Given the description of an element on the screen output the (x, y) to click on. 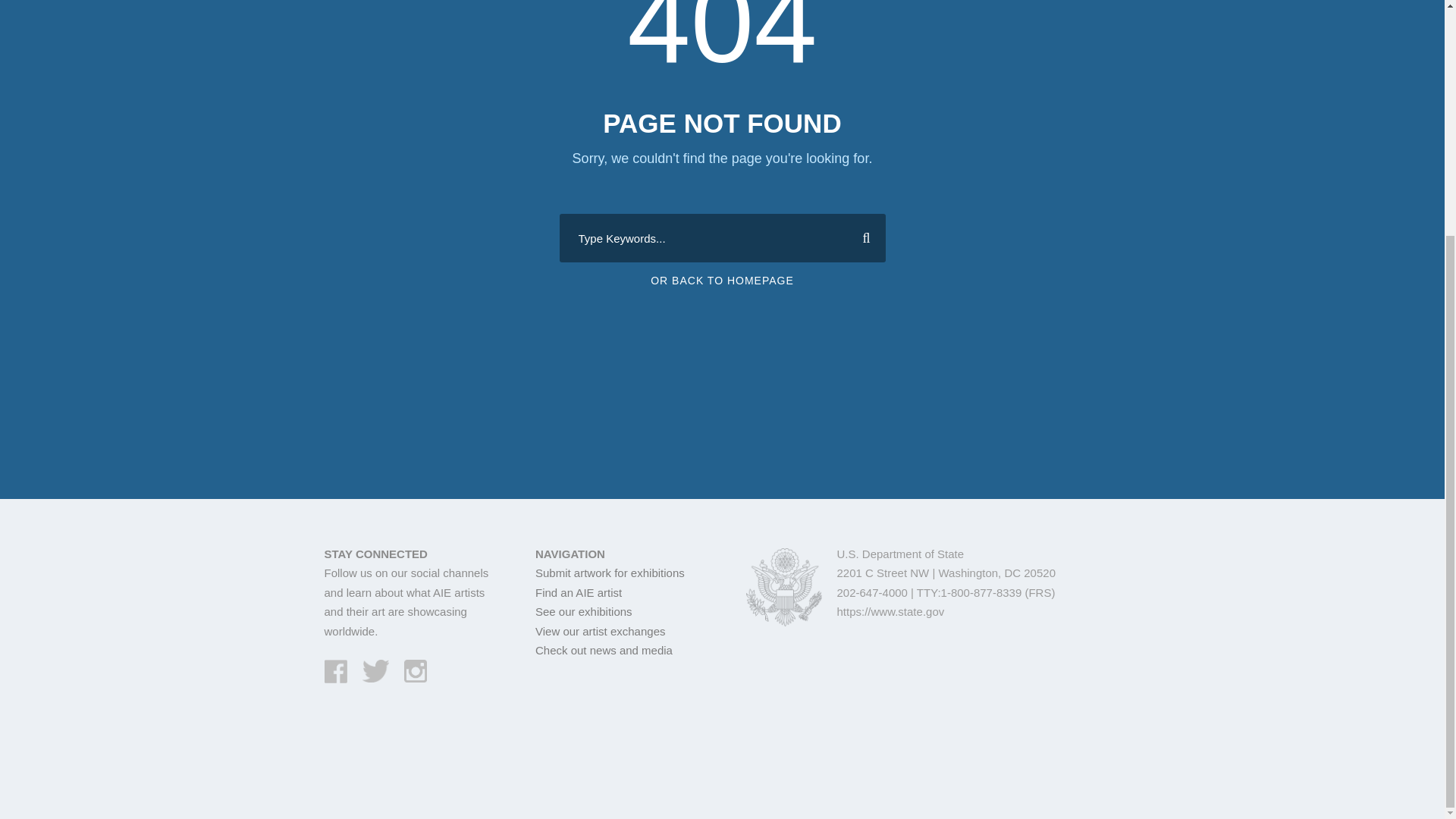
Find an AIE artist (578, 592)
Submit artwork for exhibitions (609, 572)
See our exhibitions (583, 611)
Search (860, 237)
OR BACK TO HOMEPAGE (721, 280)
